Given the description of an element on the screen output the (x, y) to click on. 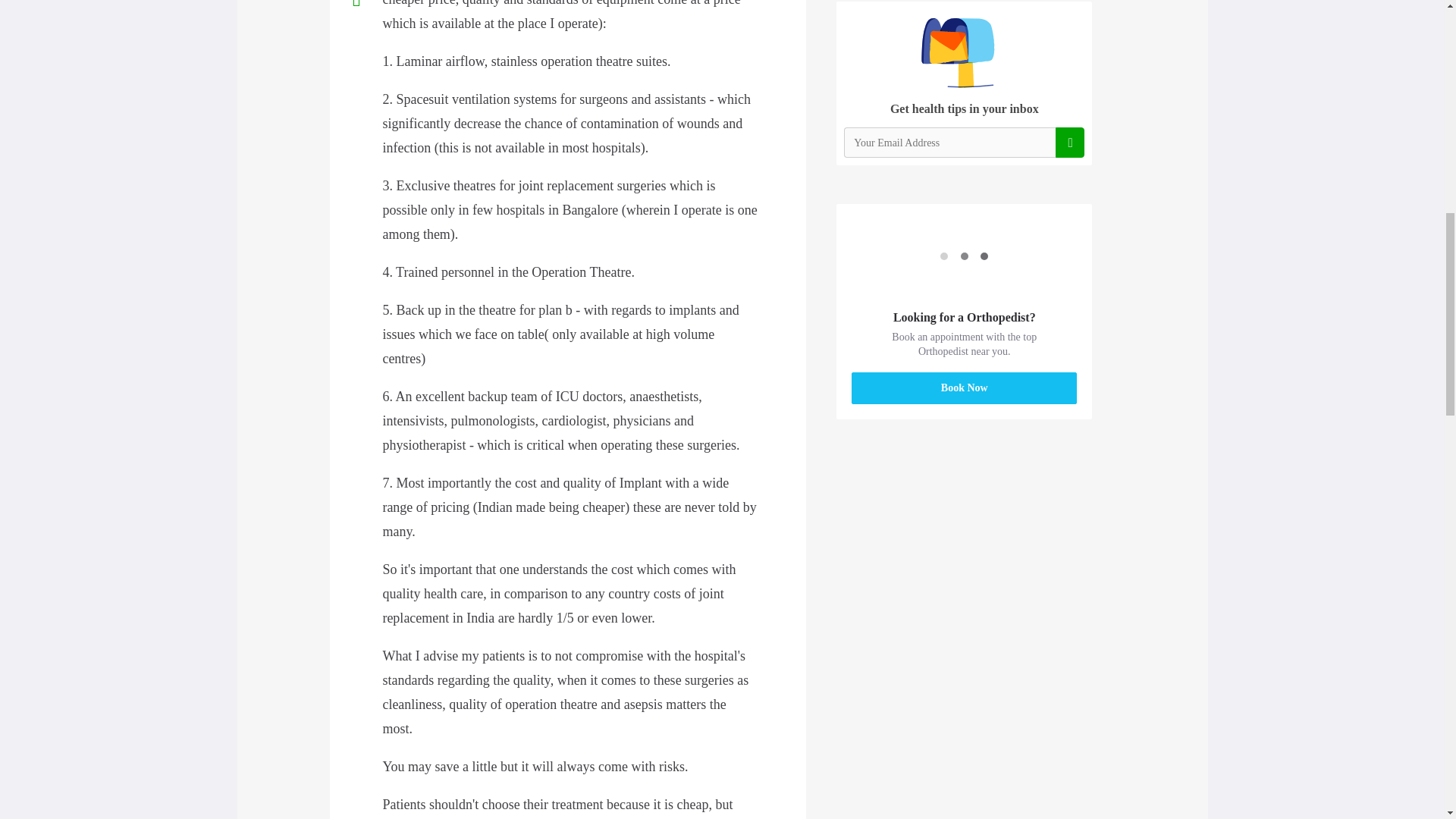
Book Now (964, 388)
